Given the description of an element on the screen output the (x, y) to click on. 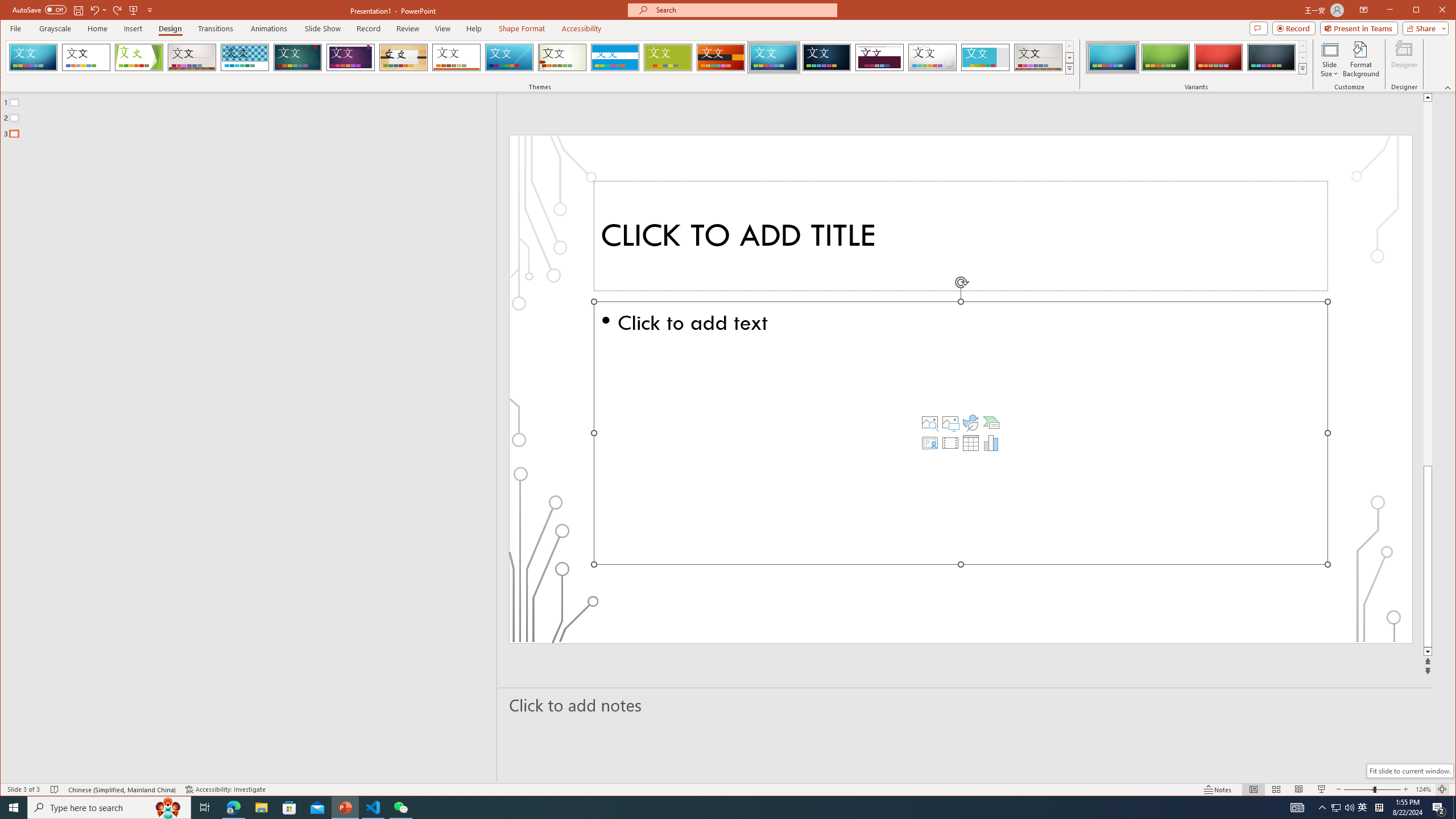
Circuit Variant 2 (1165, 57)
Damask (826, 57)
Circuit Variant 3 (1218, 57)
